Given the description of an element on the screen output the (x, y) to click on. 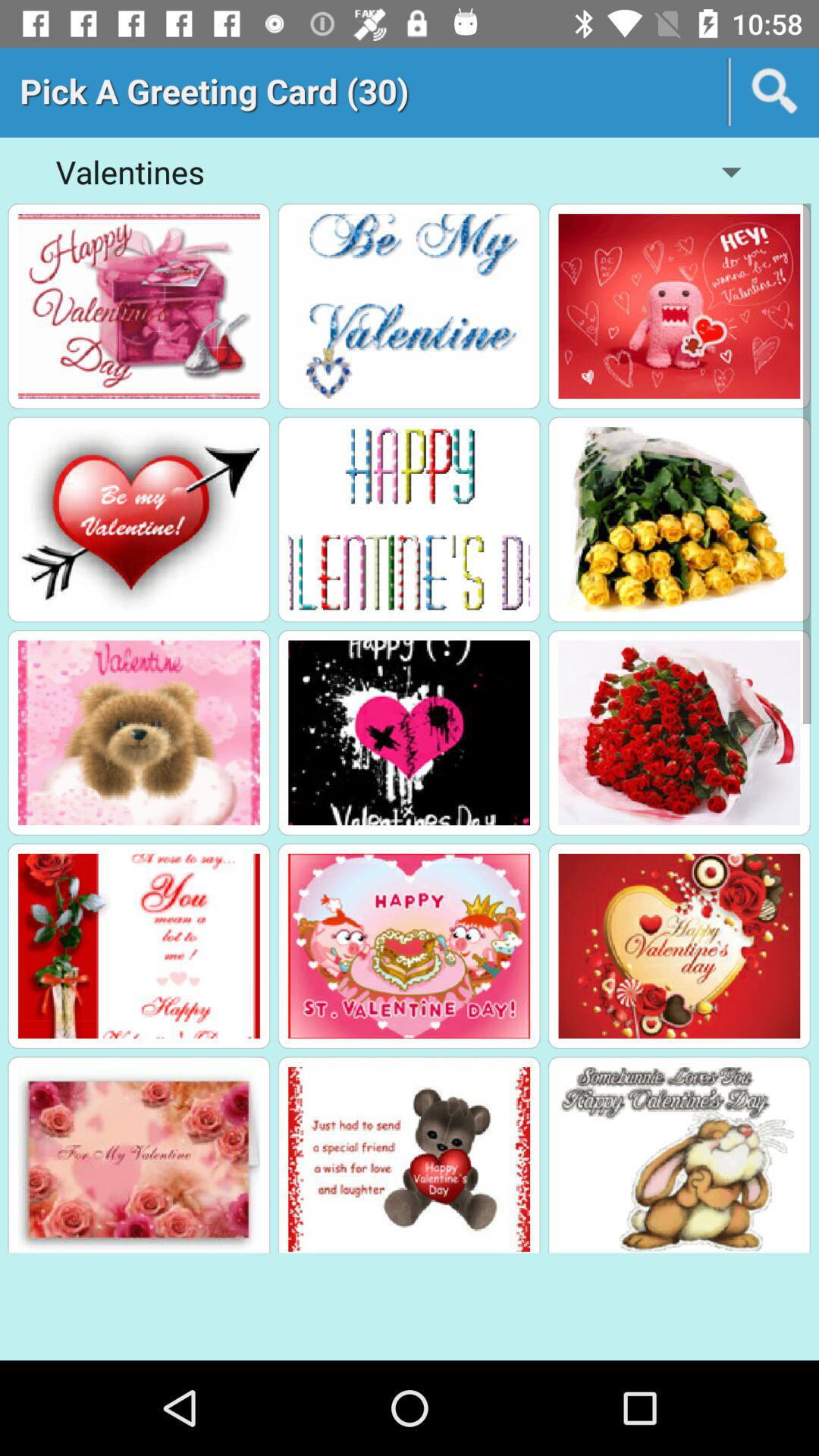
pick card (138, 519)
